Given the description of an element on the screen output the (x, y) to click on. 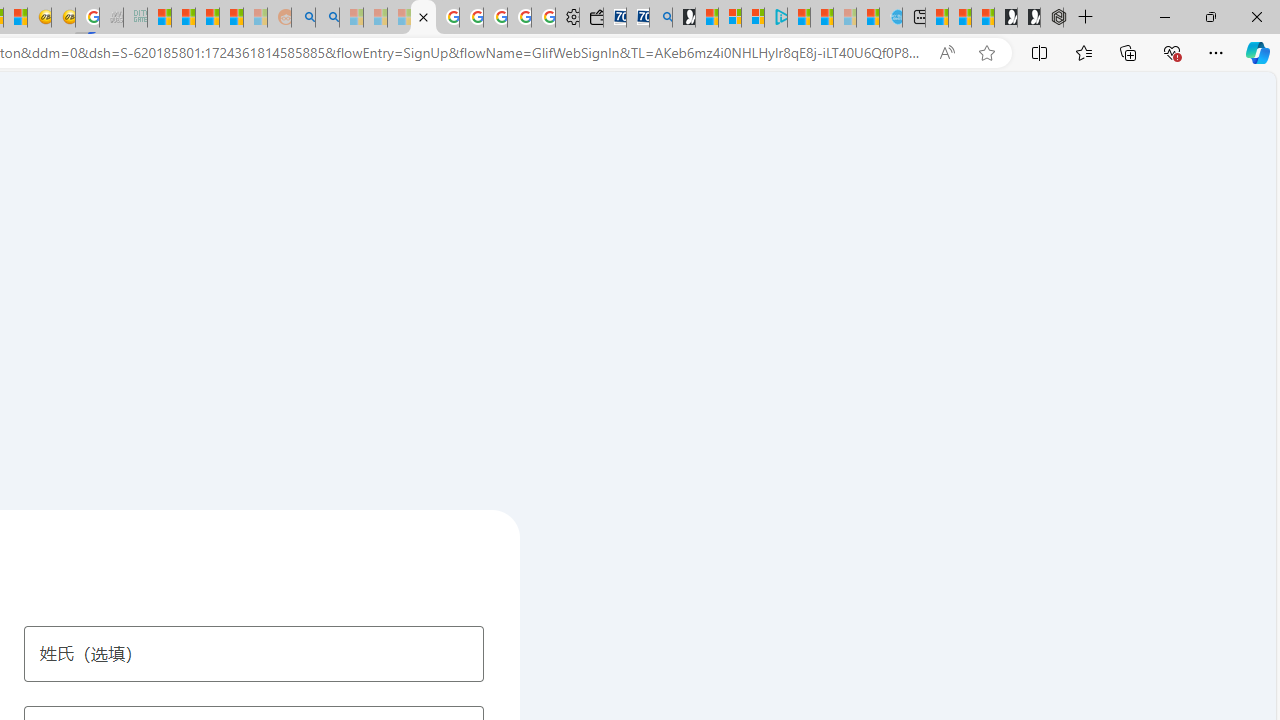
Student Loan Update: Forgiveness Program Ends This Month (231, 17)
